Given the description of an element on the screen output the (x, y) to click on. 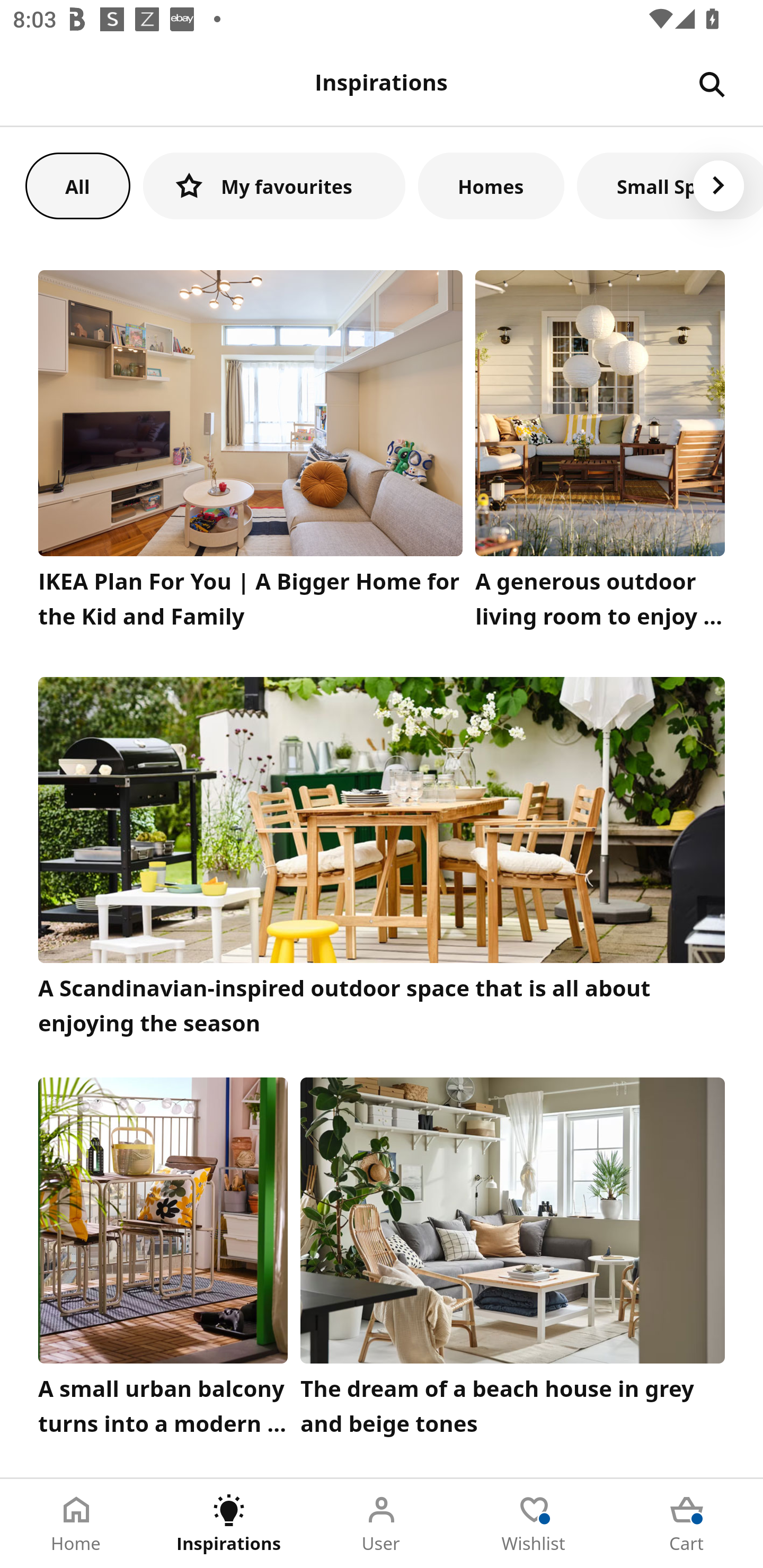
All (77, 185)
My favourites (274, 185)
Homes (491, 185)
The dream of a beach house in grey and beige tones (512, 1261)
Home
Tab 1 of 5 (76, 1522)
Inspirations
Tab 2 of 5 (228, 1522)
User
Tab 3 of 5 (381, 1522)
Wishlist
Tab 4 of 5 (533, 1522)
Cart
Tab 5 of 5 (686, 1522)
